Given the description of an element on the screen output the (x, y) to click on. 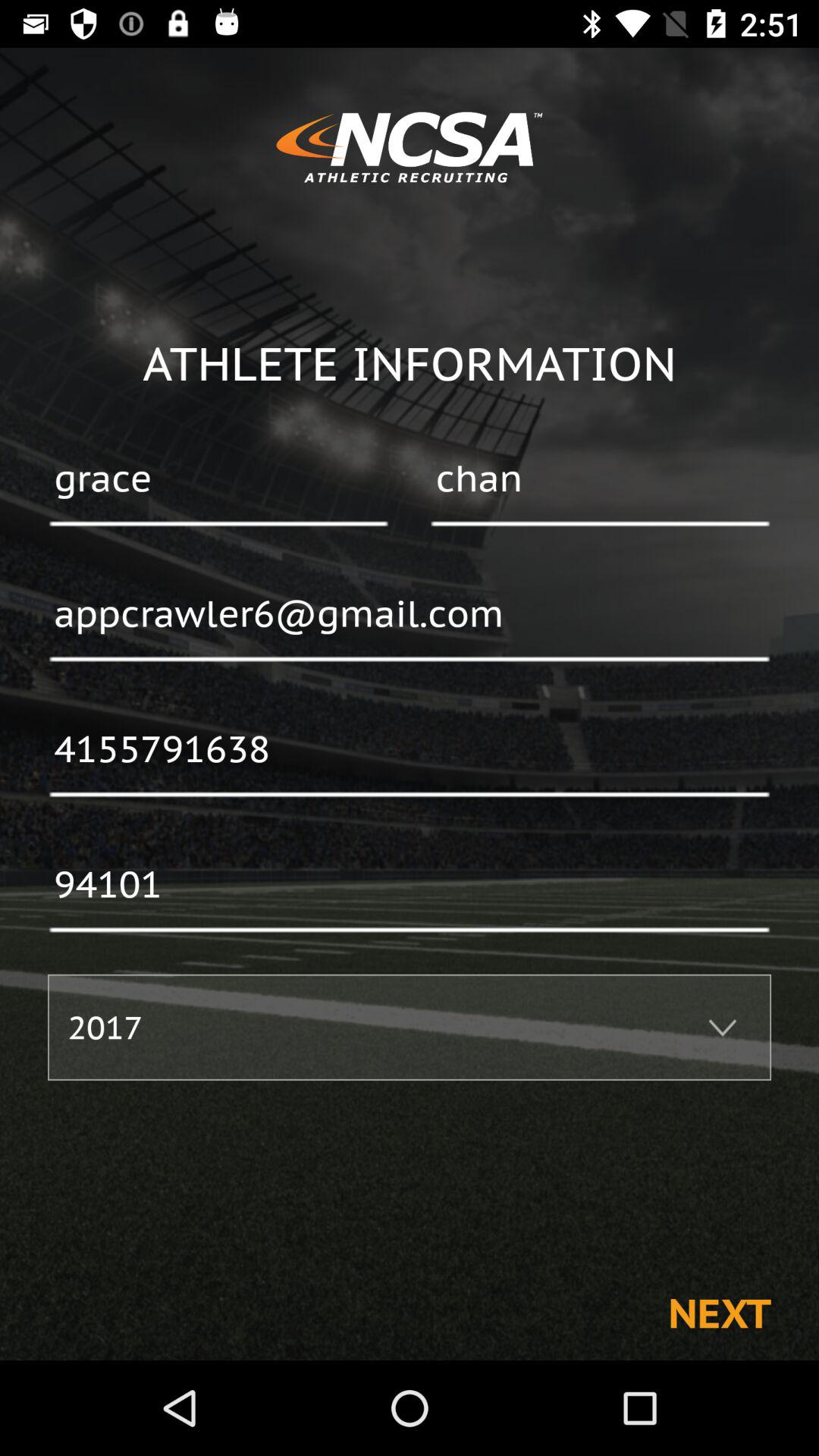
click the icon at the top right corner (600, 479)
